Given the description of an element on the screen output the (x, y) to click on. 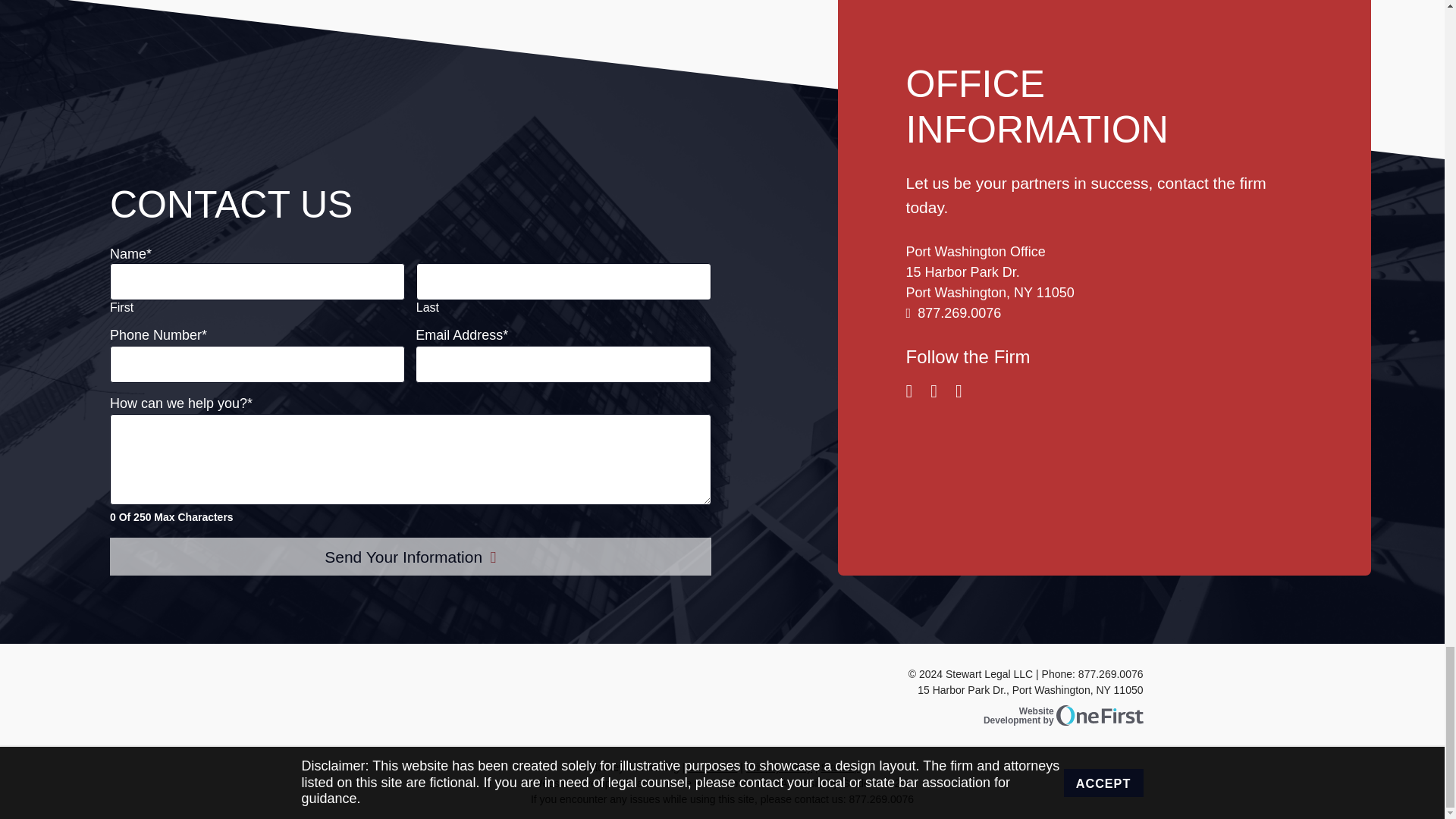
Send Your Information (1045, 715)
